Given the description of an element on the screen output the (x, y) to click on. 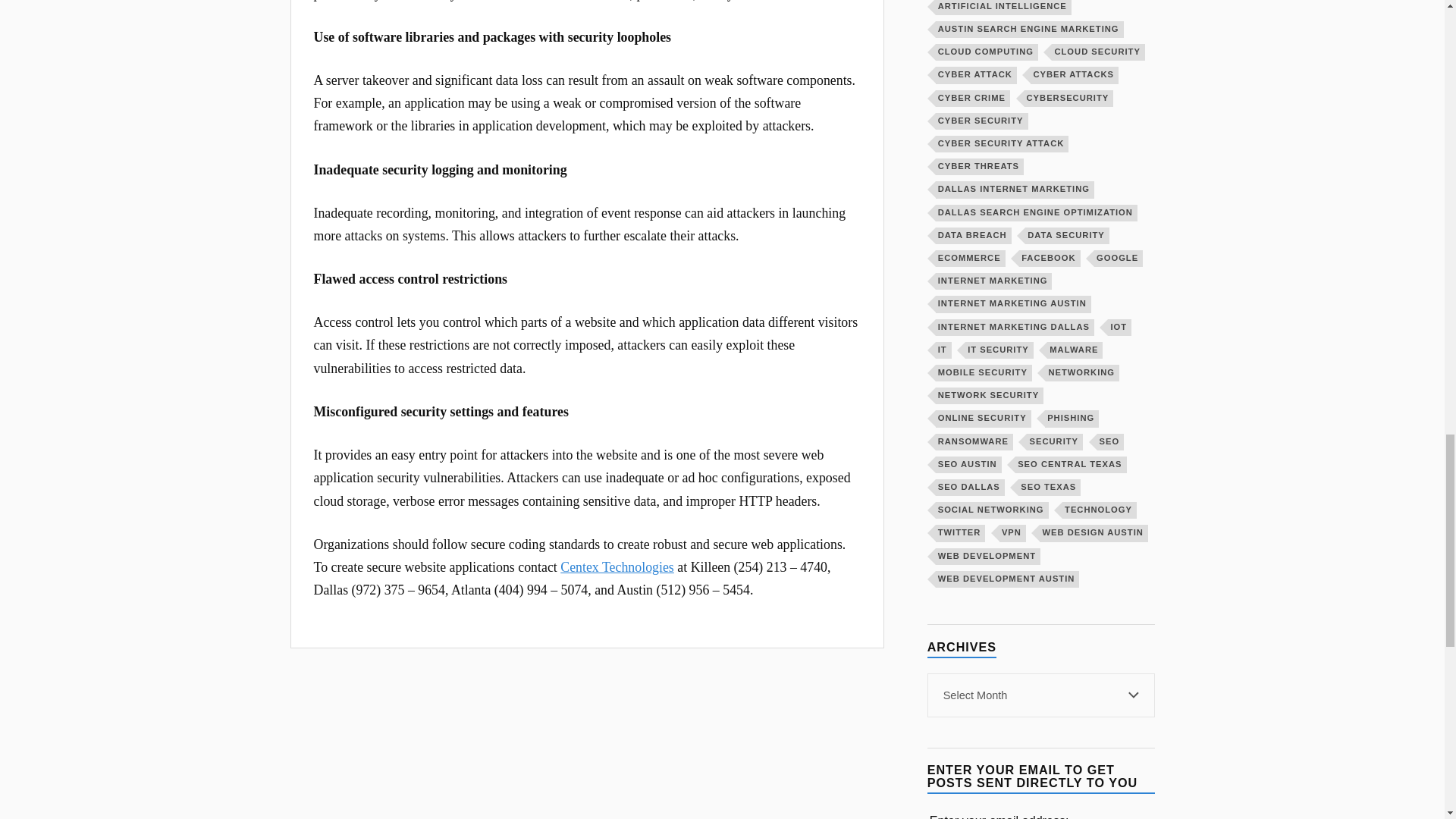
CYBER ATTACKS (1074, 74)
CYBER SECURITY ATTACK (1002, 143)
Centex Technologies (617, 566)
CYBER SECURITY (981, 121)
CYBER ATTACK (976, 74)
CYBER THREATS (979, 166)
CLOUD SECURITY (1097, 52)
ARTIFICIAL INTELLIGENCE (1003, 7)
AUSTIN SEARCH ENGINE MARKETING (1030, 29)
CLOUD COMPUTING (987, 52)
CYBER CRIME (973, 97)
CYBERSECURITY (1069, 97)
